Given the description of an element on the screen output the (x, y) to click on. 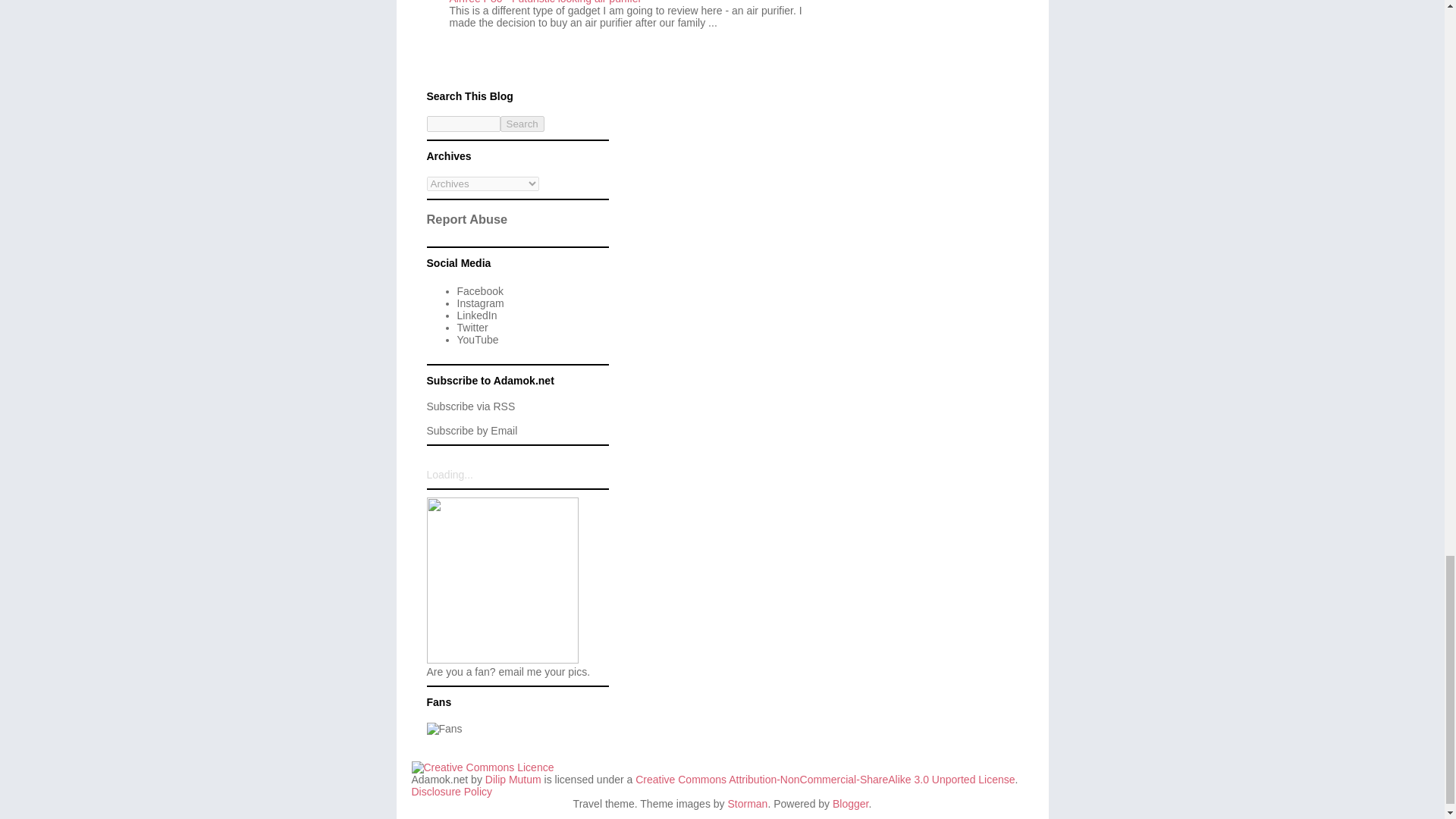
search (522, 123)
Airfree P80 - Futuristic looking air purifier (545, 2)
Search (522, 123)
Search (522, 123)
search (462, 123)
